Given the description of an element on the screen output the (x, y) to click on. 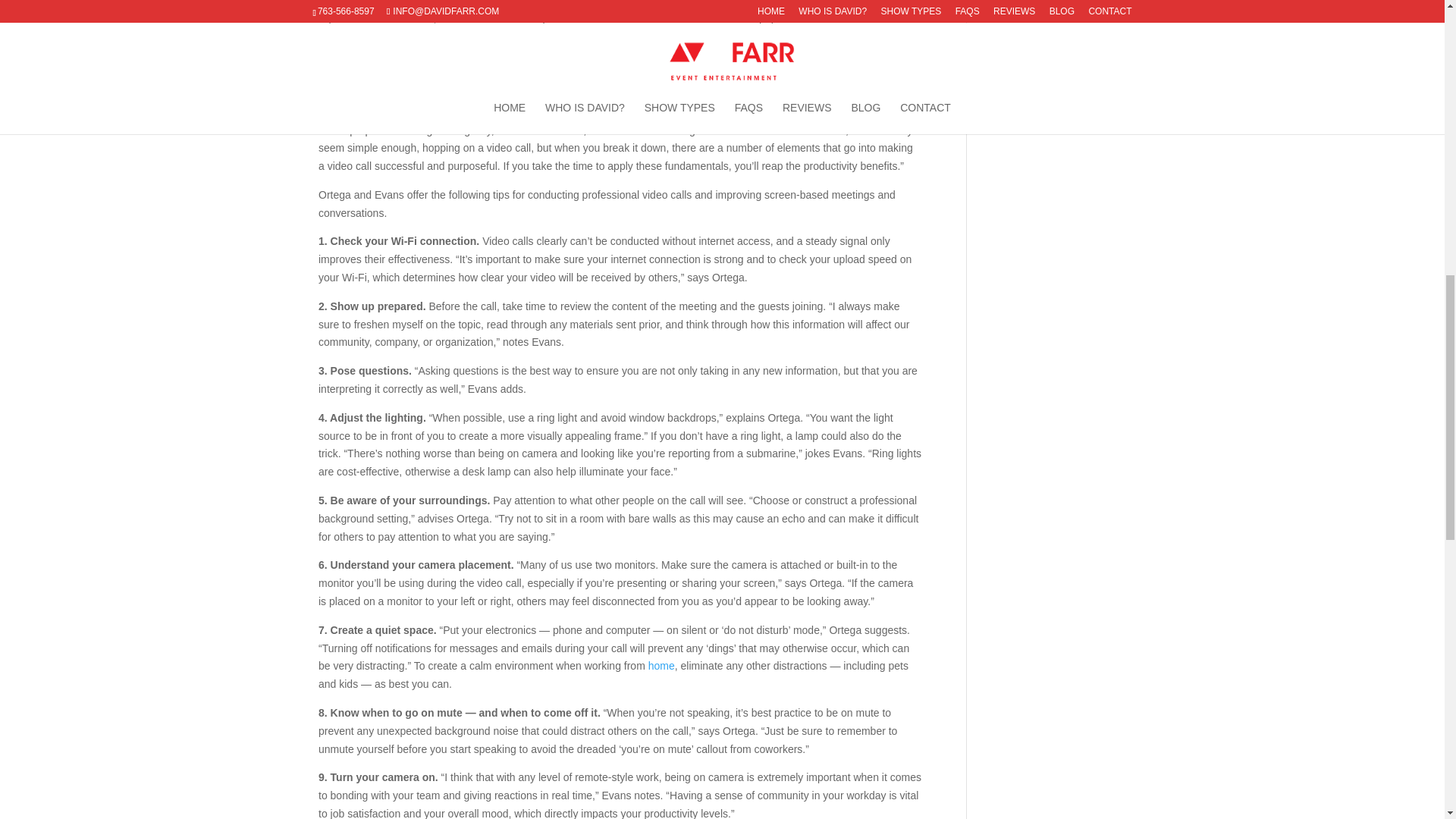
home (661, 665)
